Given the description of an element on the screen output the (x, y) to click on. 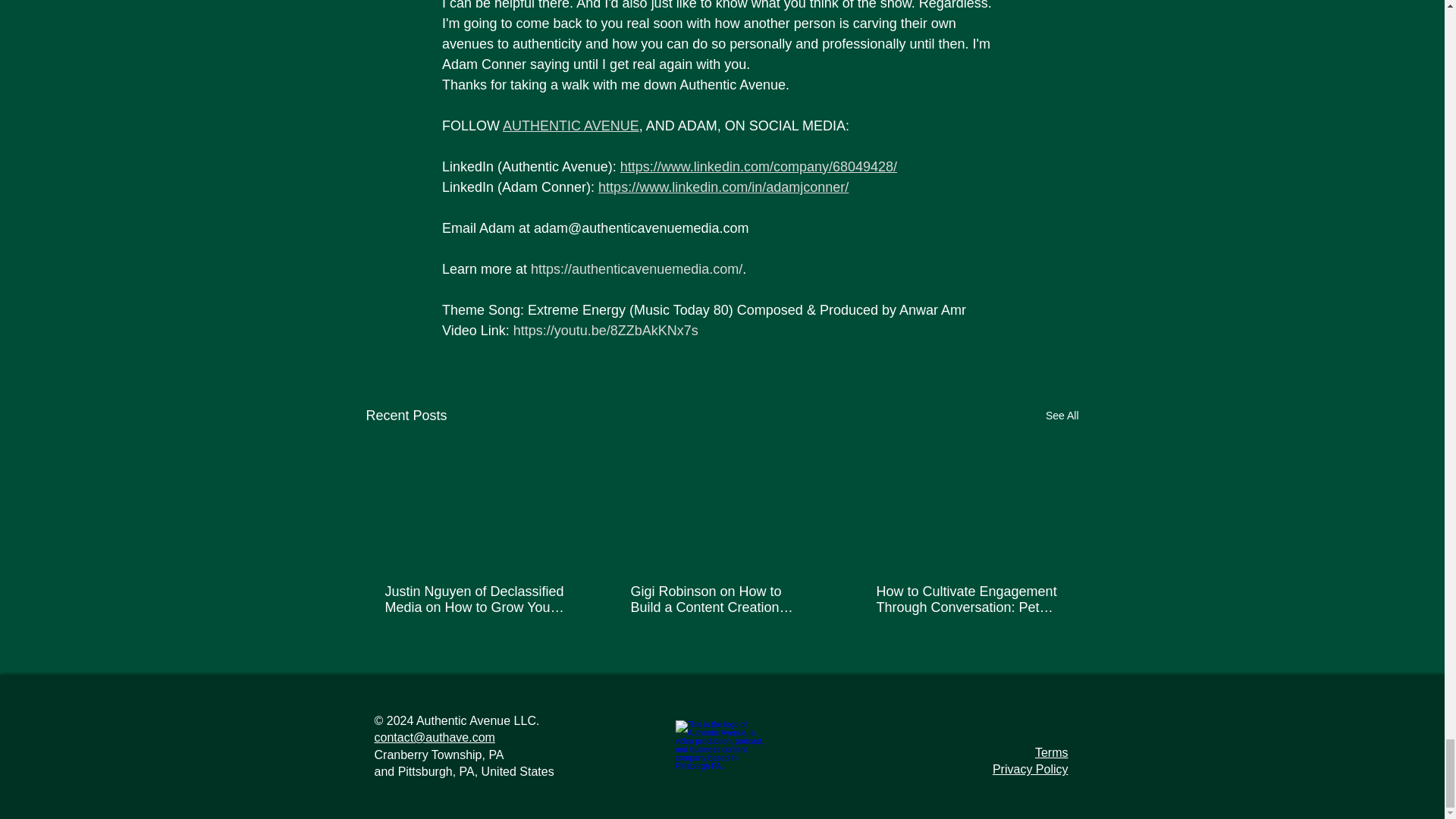
Privacy Policy (1030, 768)
See All (1061, 415)
AUTHENTIC AVENUE (570, 125)
Terms (1051, 752)
